Given the description of an element on the screen output the (x, y) to click on. 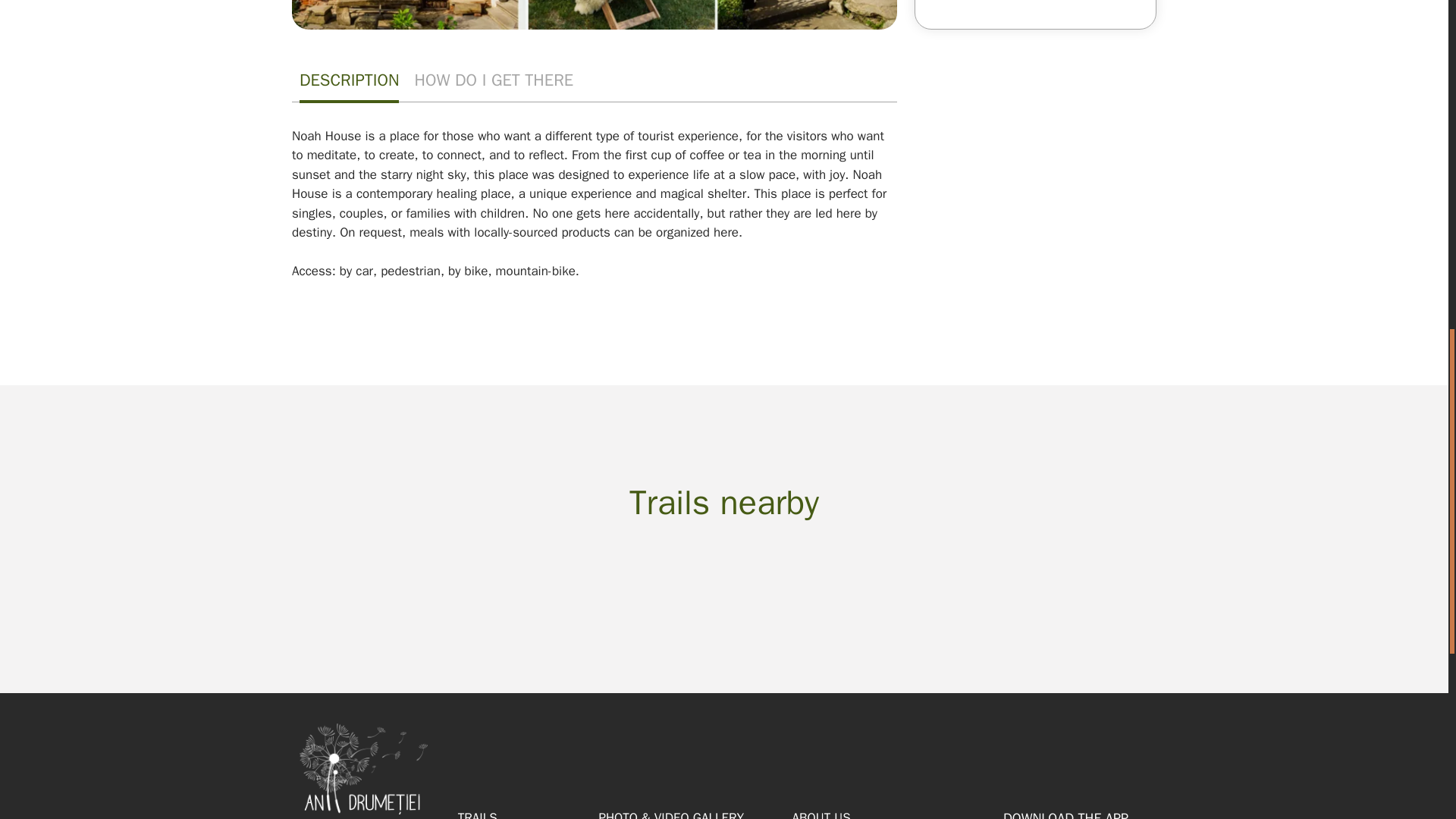
ABOUT US (821, 814)
TRAILS (477, 814)
Scroll back to top (1409, 720)
